Given the description of an element on the screen output the (x, y) to click on. 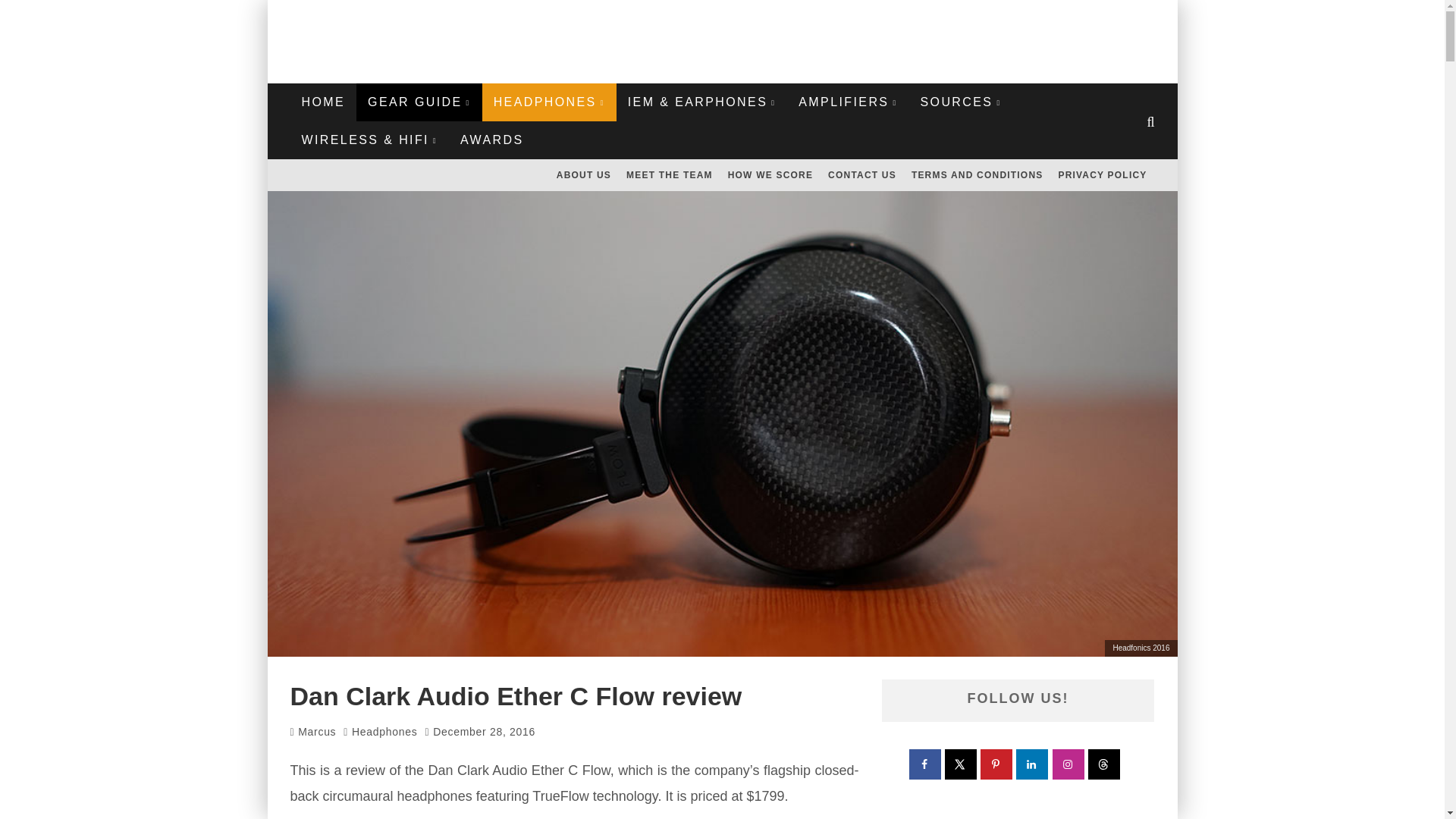
Follow on X (961, 764)
HOME (322, 102)
Follow on Facebook (925, 764)
Follow on Instagram (1069, 764)
Follow on Pinterest (996, 764)
Follow on Threads (1104, 764)
Follow on LinkedIn (1032, 764)
AMPLIFIERS (847, 102)
GEAR GUIDE (418, 102)
HEADPHONES (548, 102)
